Given the description of an element on the screen output the (x, y) to click on. 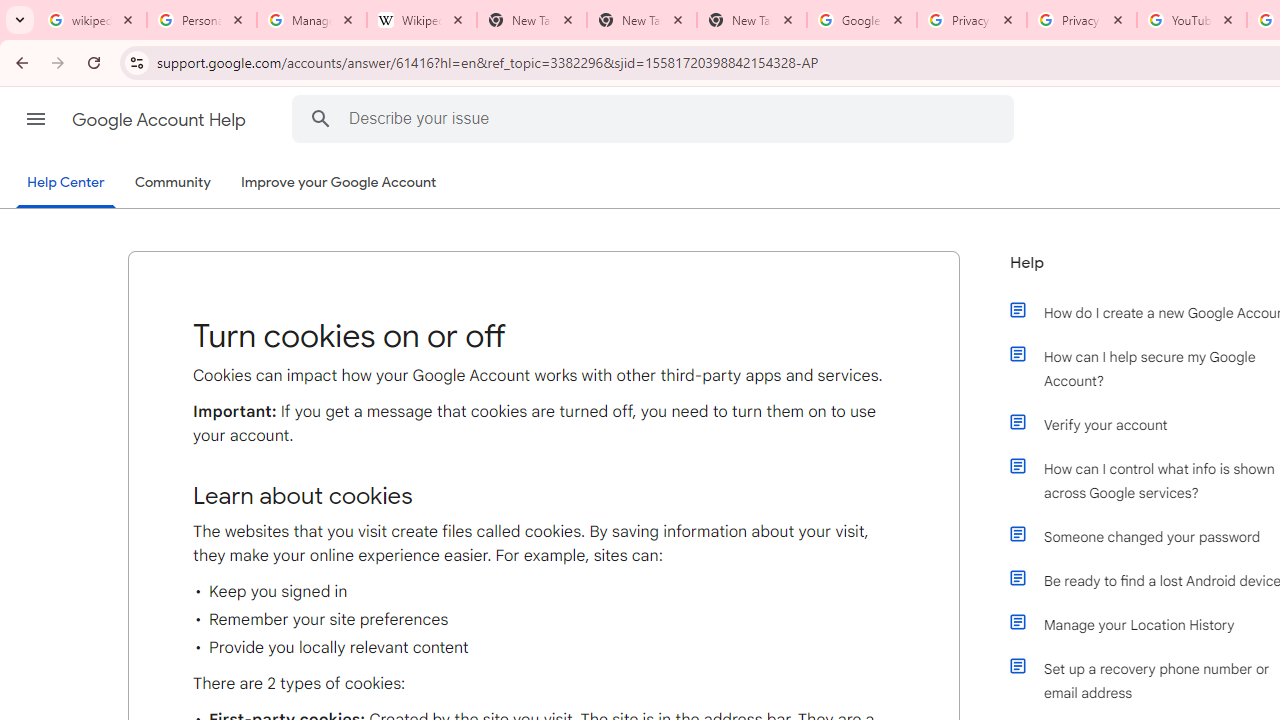
Manage your Location History - Google Search Help (312, 20)
Help Center (65, 183)
Personalization & Google Search results - Google Search Help (202, 20)
Community (171, 183)
Improve your Google Account (339, 183)
